Given the description of an element on the screen output the (x, y) to click on. 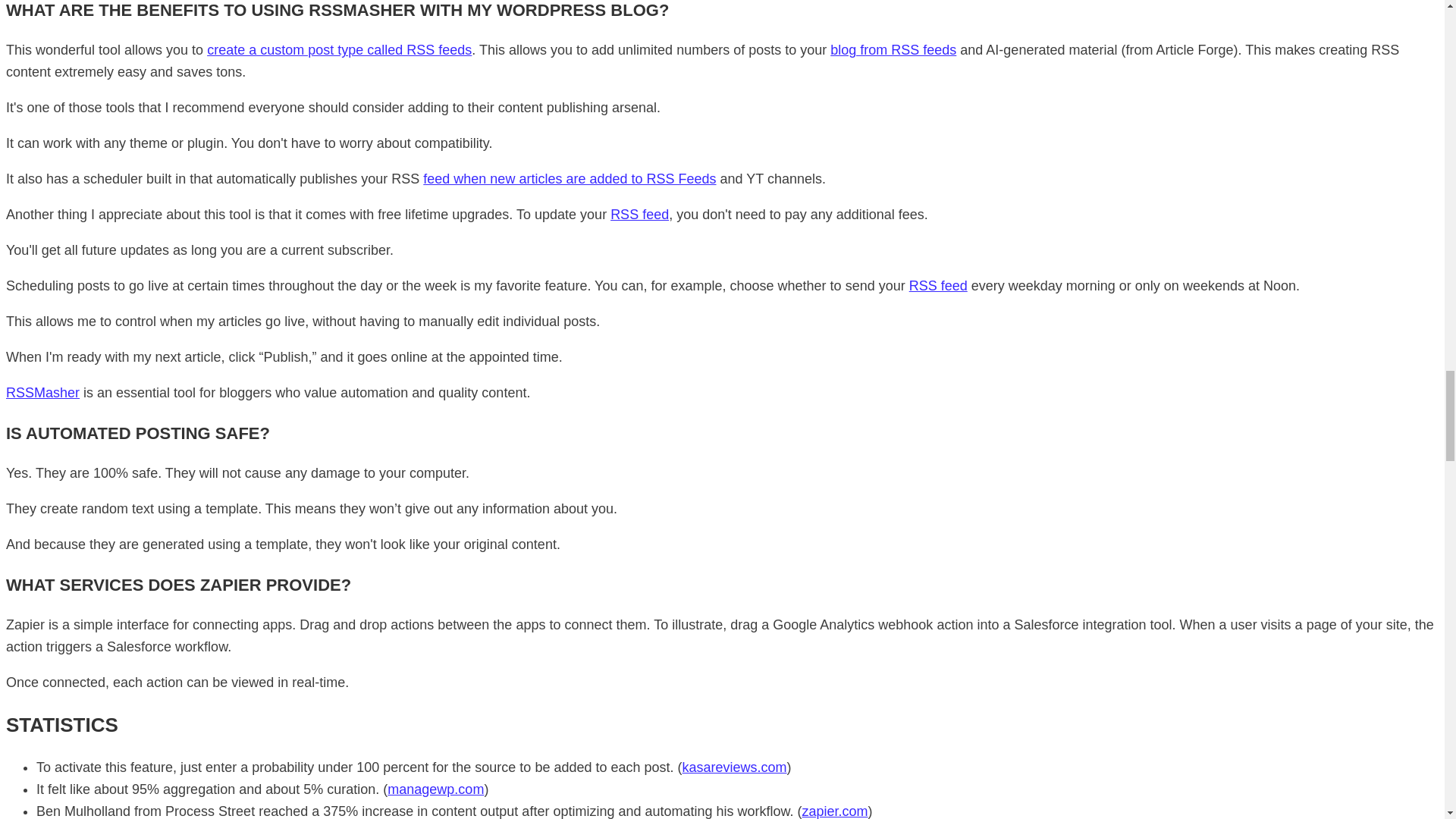
RSS feed (639, 214)
RSS feed (938, 285)
feed when new articles are added to RSS Feeds (569, 178)
blog from RSS feeds (892, 49)
create a custom post type called RSS feeds (338, 49)
kasareviews.com (734, 767)
RSSMasher (42, 392)
